Given the description of an element on the screen output the (x, y) to click on. 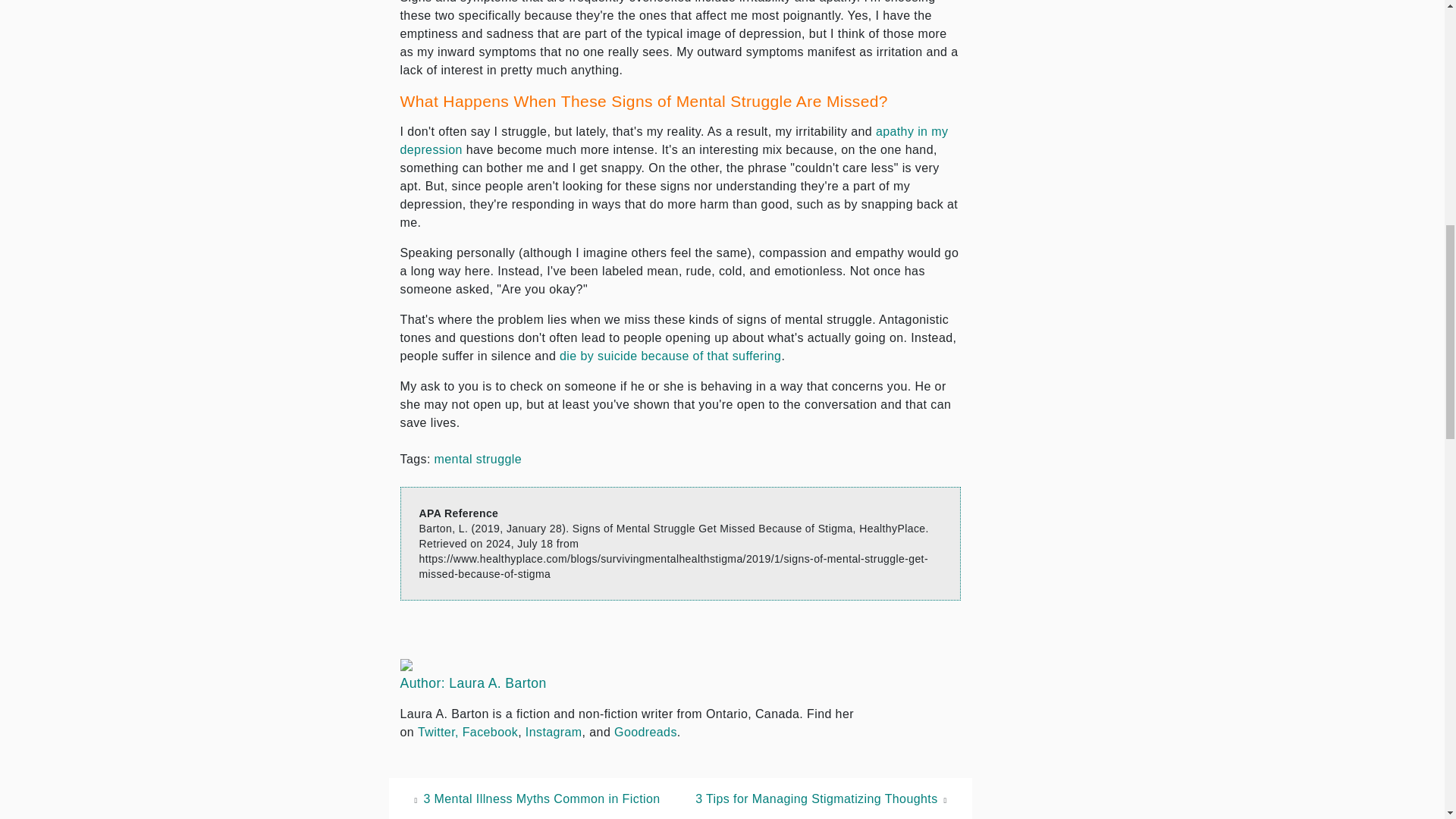
3 Reasons People Die by Suicide When They're Mentally Ill (669, 355)
Apathy in Depression Is Challenging, Not Permanent (674, 140)
